Given the description of an element on the screen output the (x, y) to click on. 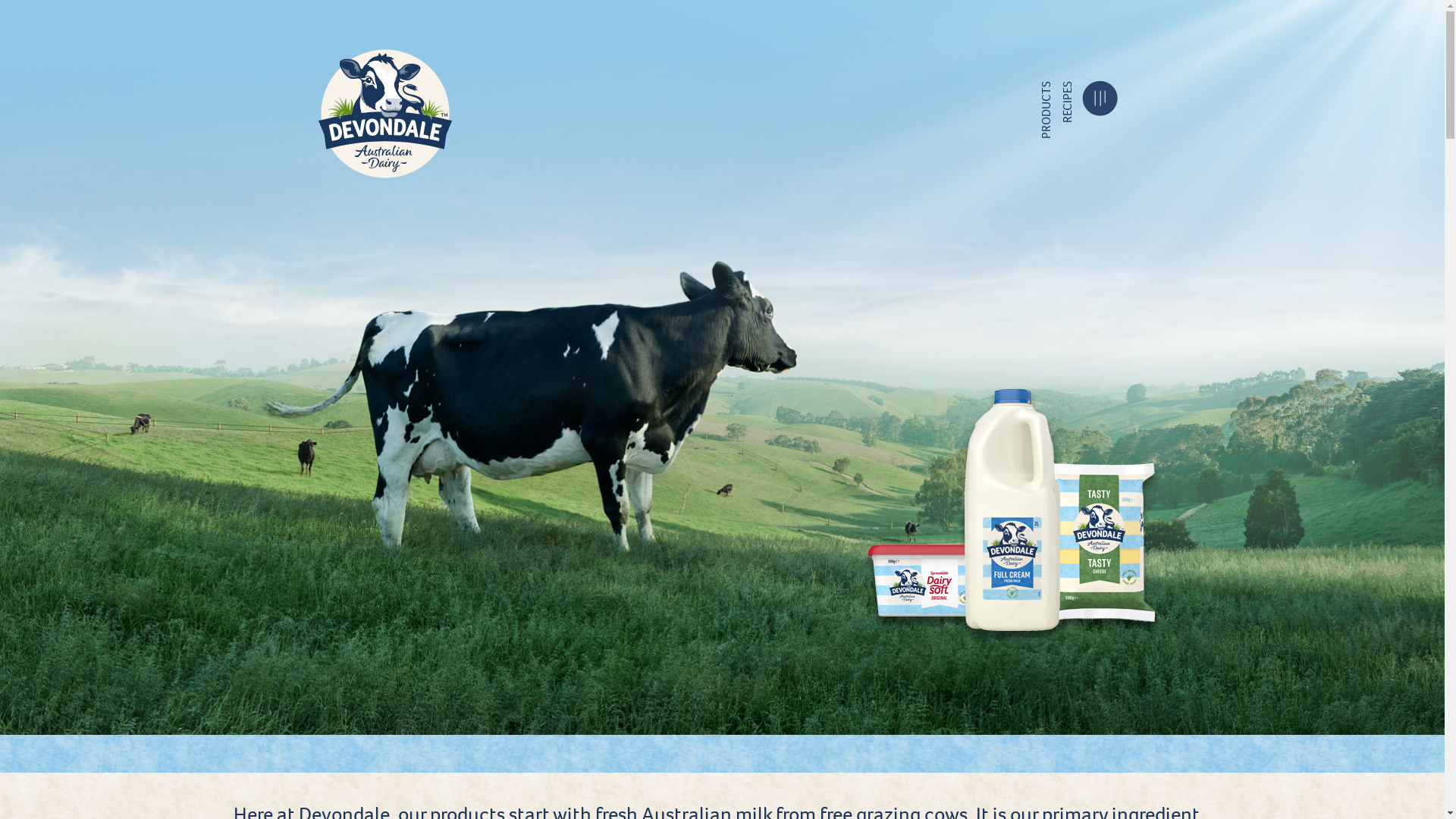
Home Element type: hover (388, 113)
PRODUCTS Element type: text (1077, 87)
RECIPES Element type: text (1098, 87)
